Given the description of an element on the screen output the (x, y) to click on. 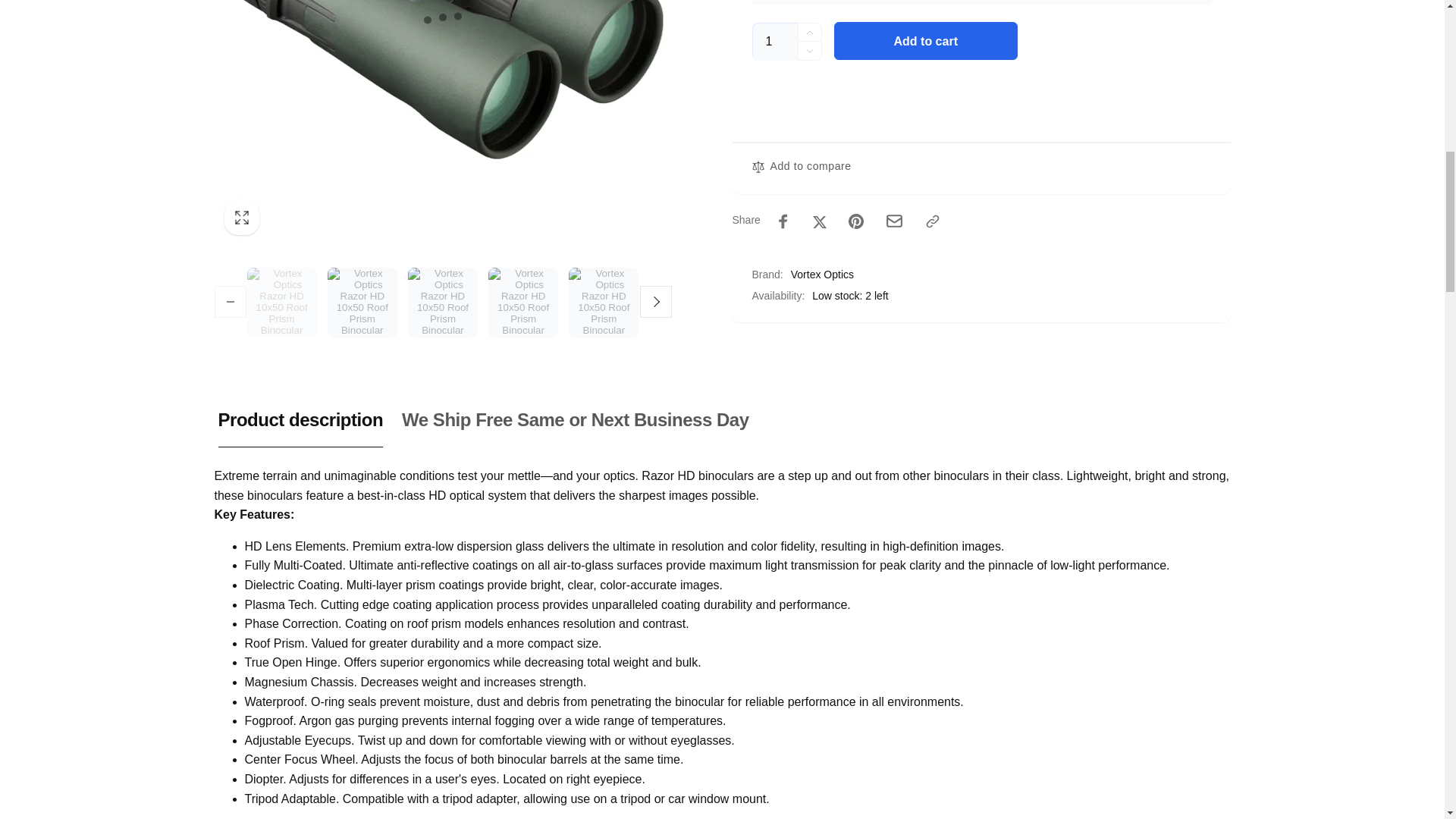
1 (774, 41)
